Given the description of an element on the screen output the (x, y) to click on. 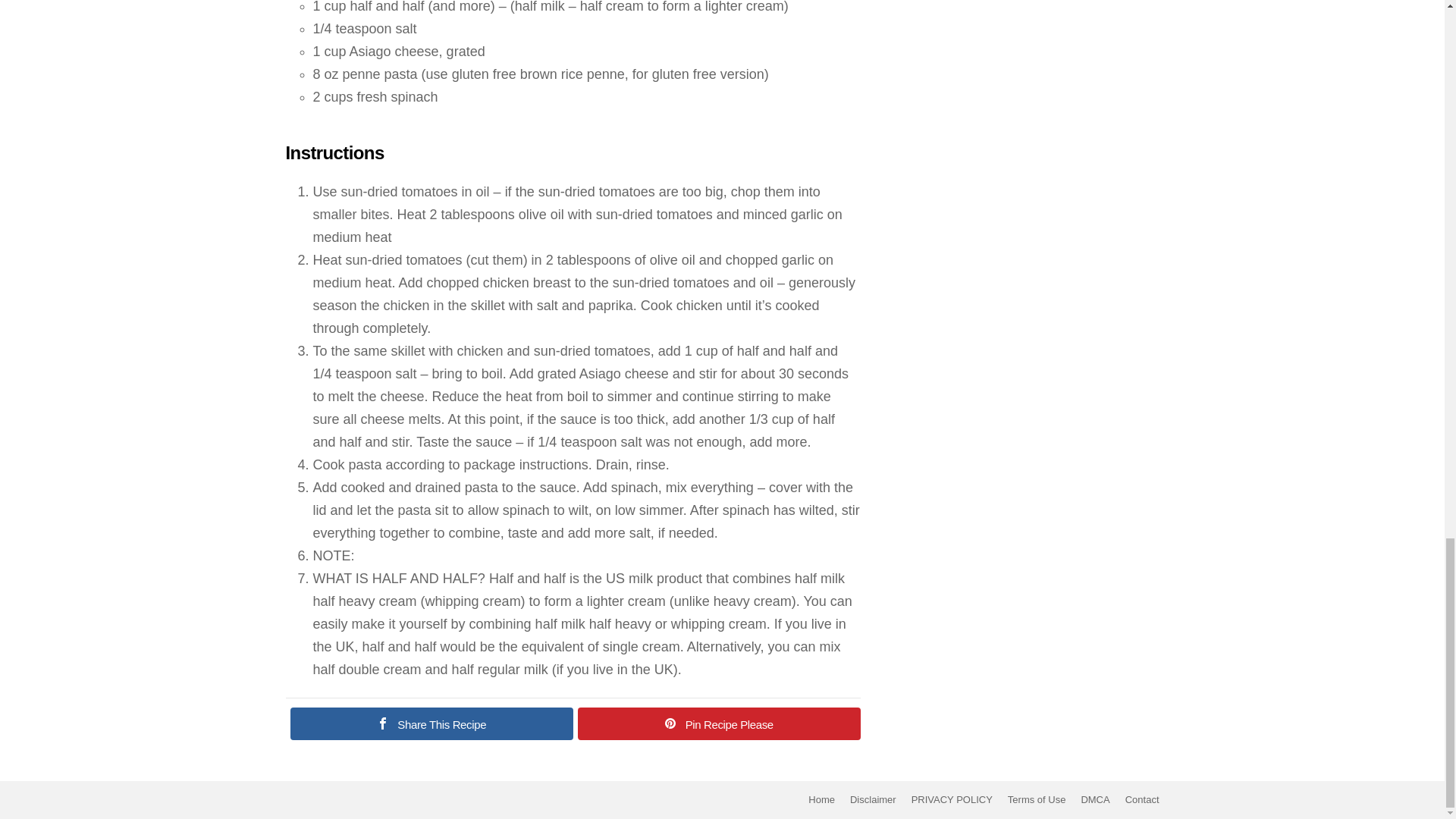
DMCA (1094, 799)
Disclaimer (873, 799)
PRIVACY POLICY (952, 799)
Terms of Use (1037, 799)
Contact (1142, 799)
Pin Recipe Please (719, 723)
Share This Recipe (430, 723)
Home (821, 799)
